Given the description of an element on the screen output the (x, y) to click on. 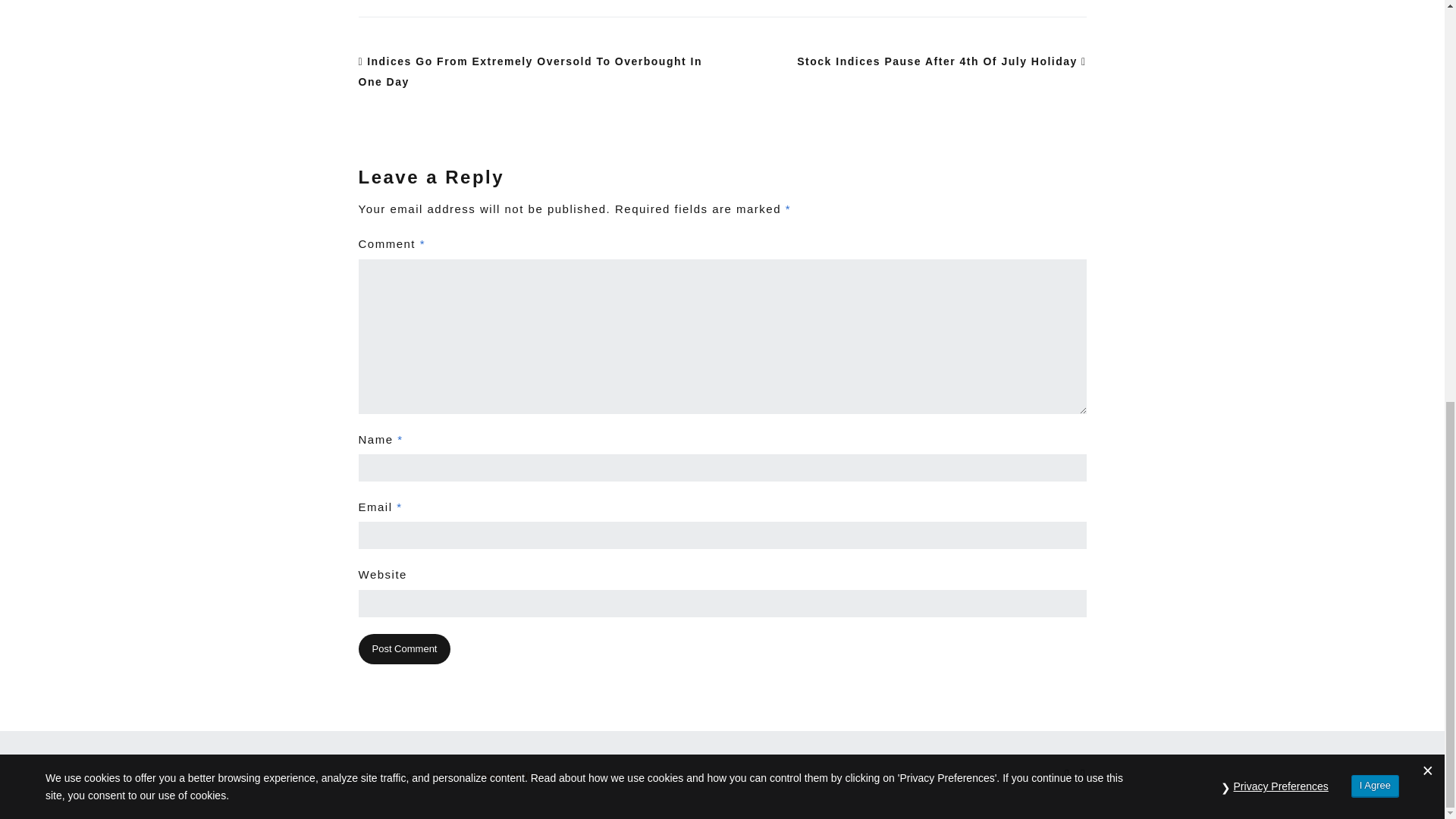
Indices Go From Extremely Oversold To Overbought In One Day (529, 71)
Post Comment (403, 649)
I Agree (1375, 3)
Privacy Preferences (1280, 4)
Privacy Policy (506, 775)
Post Comment (403, 649)
Stock Indices Pause After 4th Of July Holiday (941, 61)
